Given the description of an element on the screen output the (x, y) to click on. 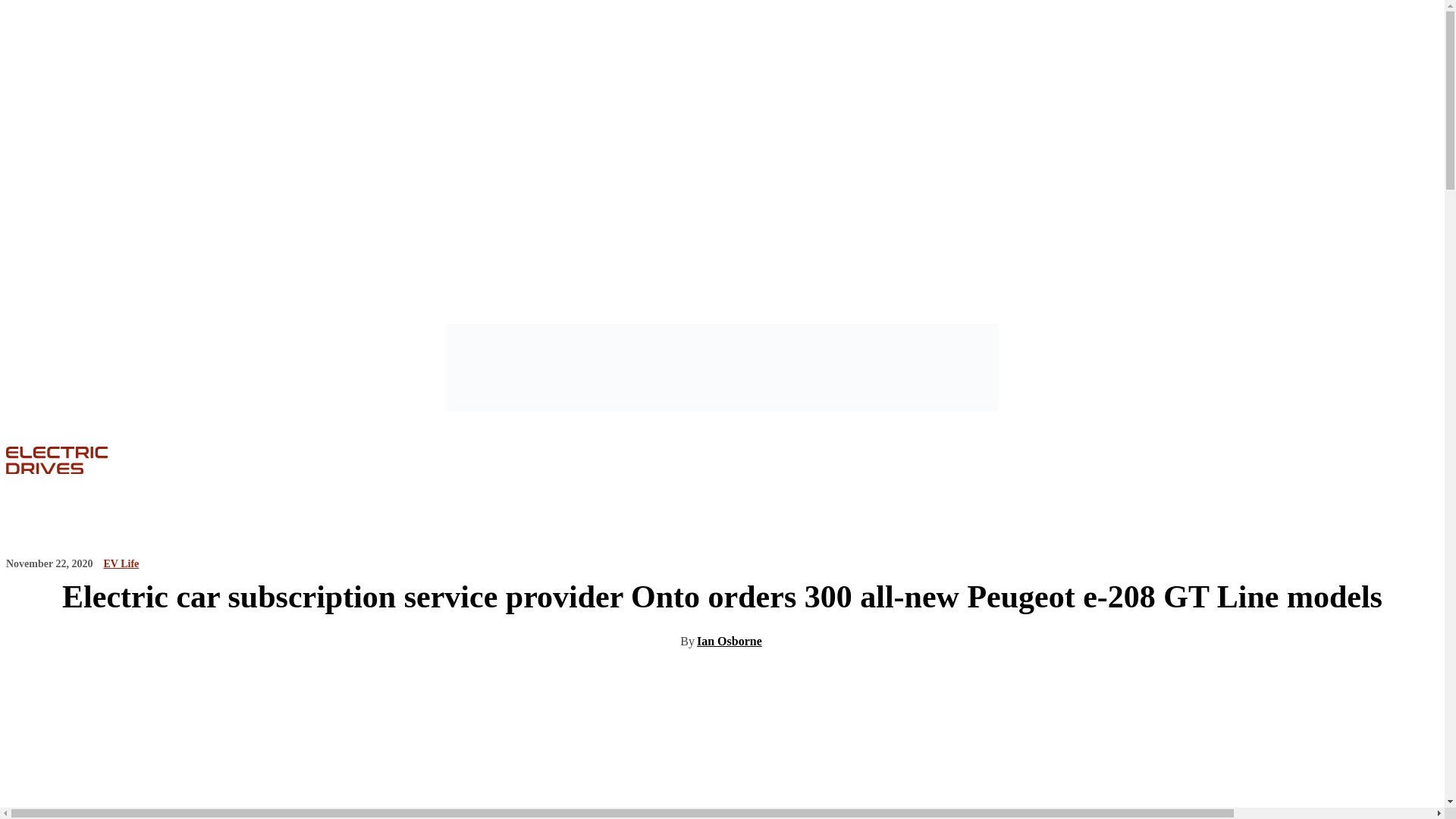
Elecctric Drives (77, 460)
